Given the description of an element on the screen output the (x, y) to click on. 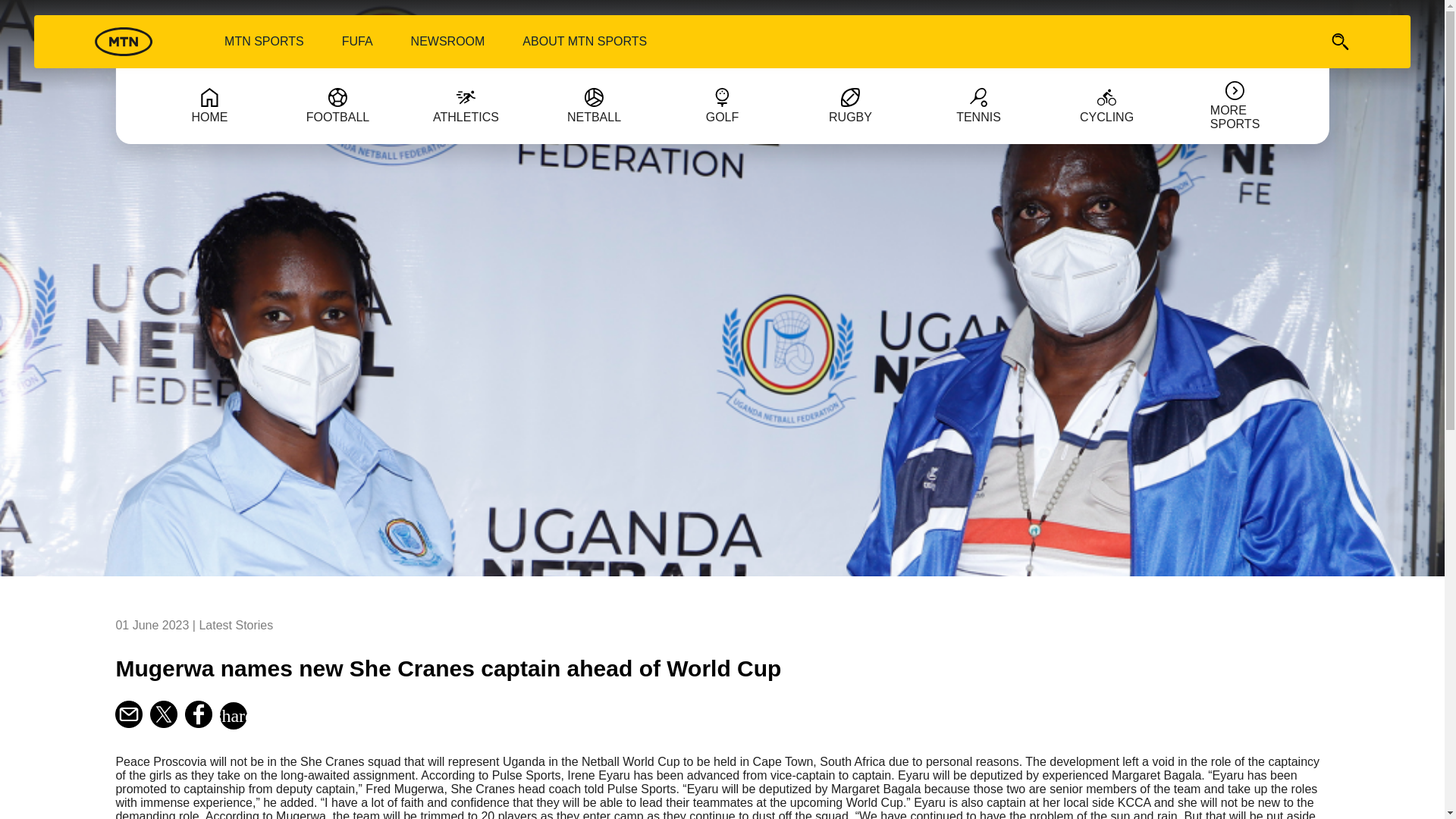
FOOTBALL (336, 105)
HOME (208, 105)
ATHLETICS (464, 105)
MORE SPORTS (1235, 105)
MTN SPORTS (264, 41)
FUFA (356, 41)
RUGBY (849, 105)
GOLF (721, 105)
TENNIS (978, 105)
CYCLING (1107, 105)
